Given the description of an element on the screen output the (x, y) to click on. 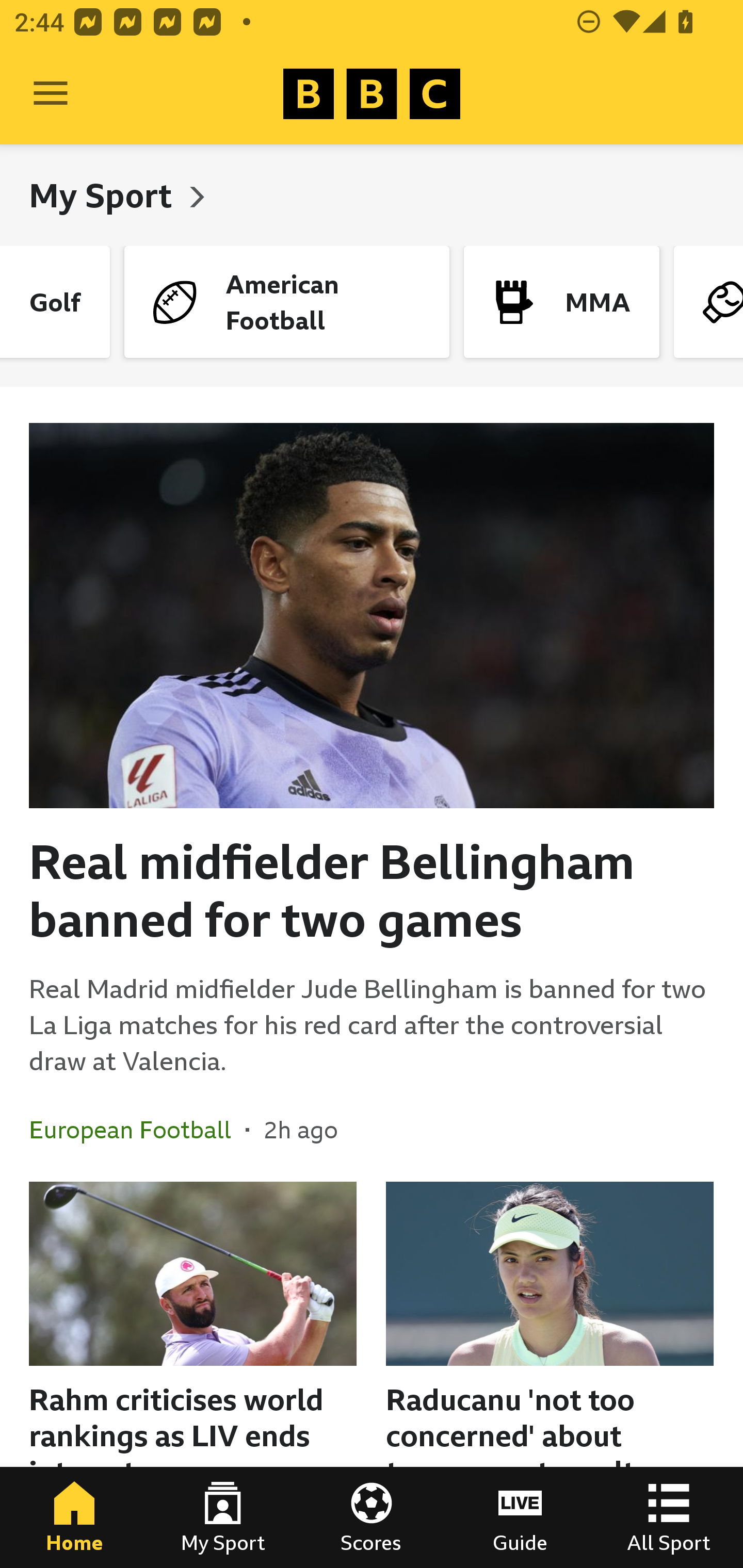
Open Menu (50, 93)
My Sport (104, 195)
European Football In the section European Football (136, 1129)
My Sport (222, 1517)
Scores (371, 1517)
Guide (519, 1517)
All Sport (668, 1517)
